Given the description of an element on the screen output the (x, y) to click on. 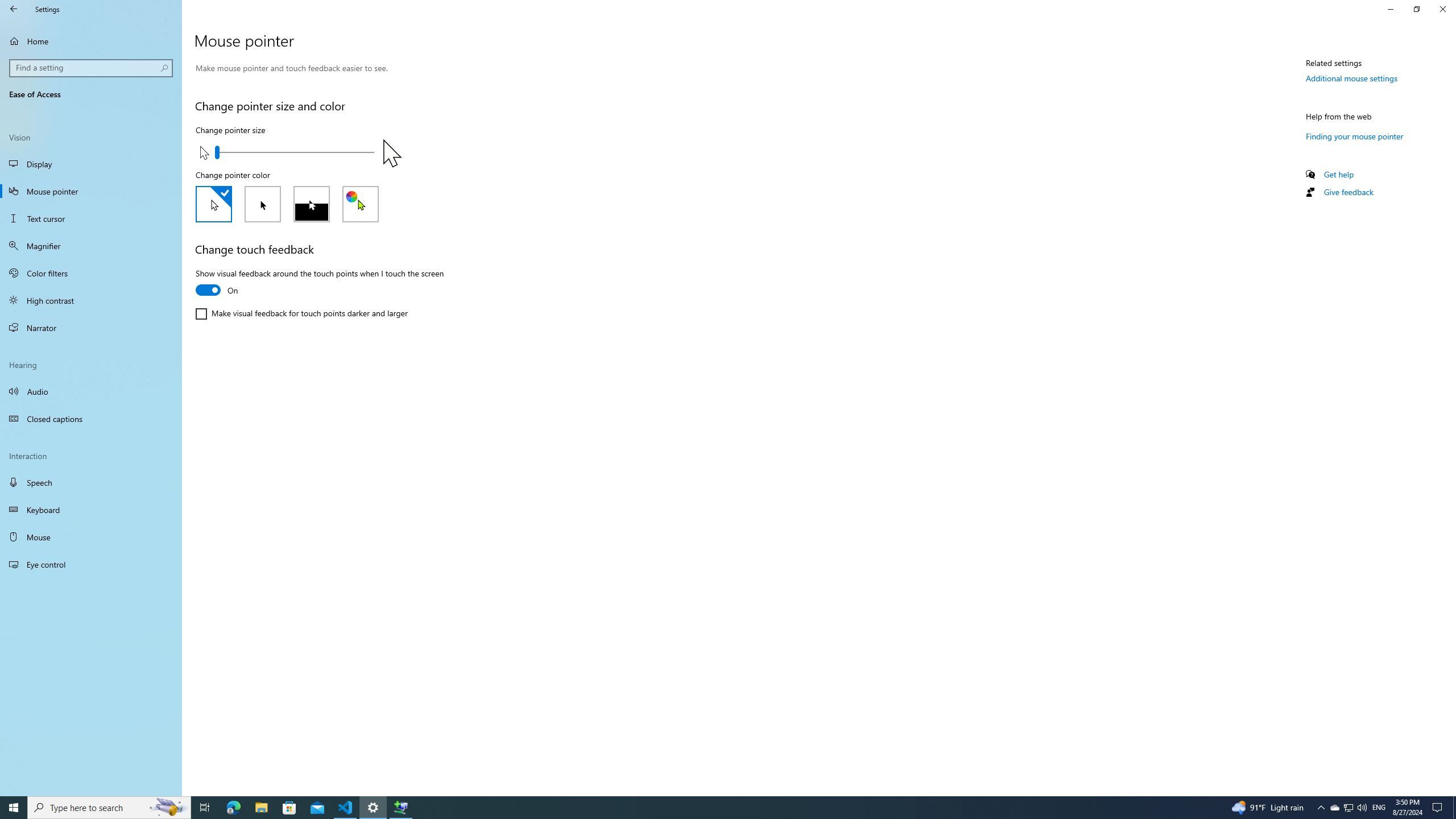
Search box, Find a setting (91, 67)
File Explorer (261, 807)
Display (91, 163)
Start (13, 807)
Text cursor (91, 217)
Mouse pointer (91, 190)
Additional mouse settings (1351, 77)
Change pointer size (294, 152)
Narrator (91, 327)
Running applications (706, 807)
Microsoft Store (289, 807)
Make visual feedback for touch points darker and larger (301, 313)
Audio (91, 390)
Mouse (91, 536)
